Given the description of an element on the screen output the (x, y) to click on. 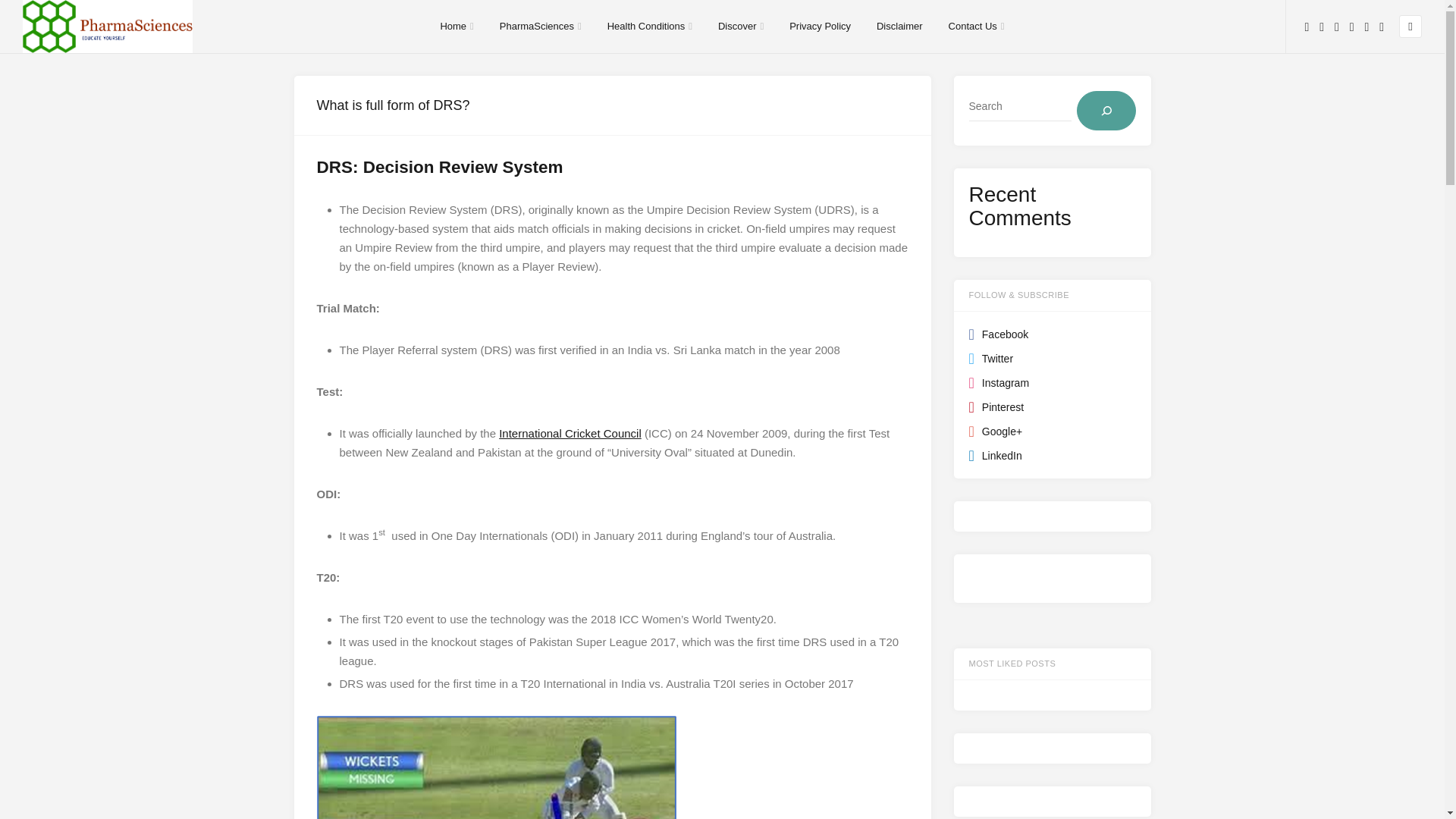
Contact Us (976, 26)
PharmaSciences (539, 26)
Health Conditions (650, 26)
Privacy Policy (819, 26)
